Given the description of an element on the screen output the (x, y) to click on. 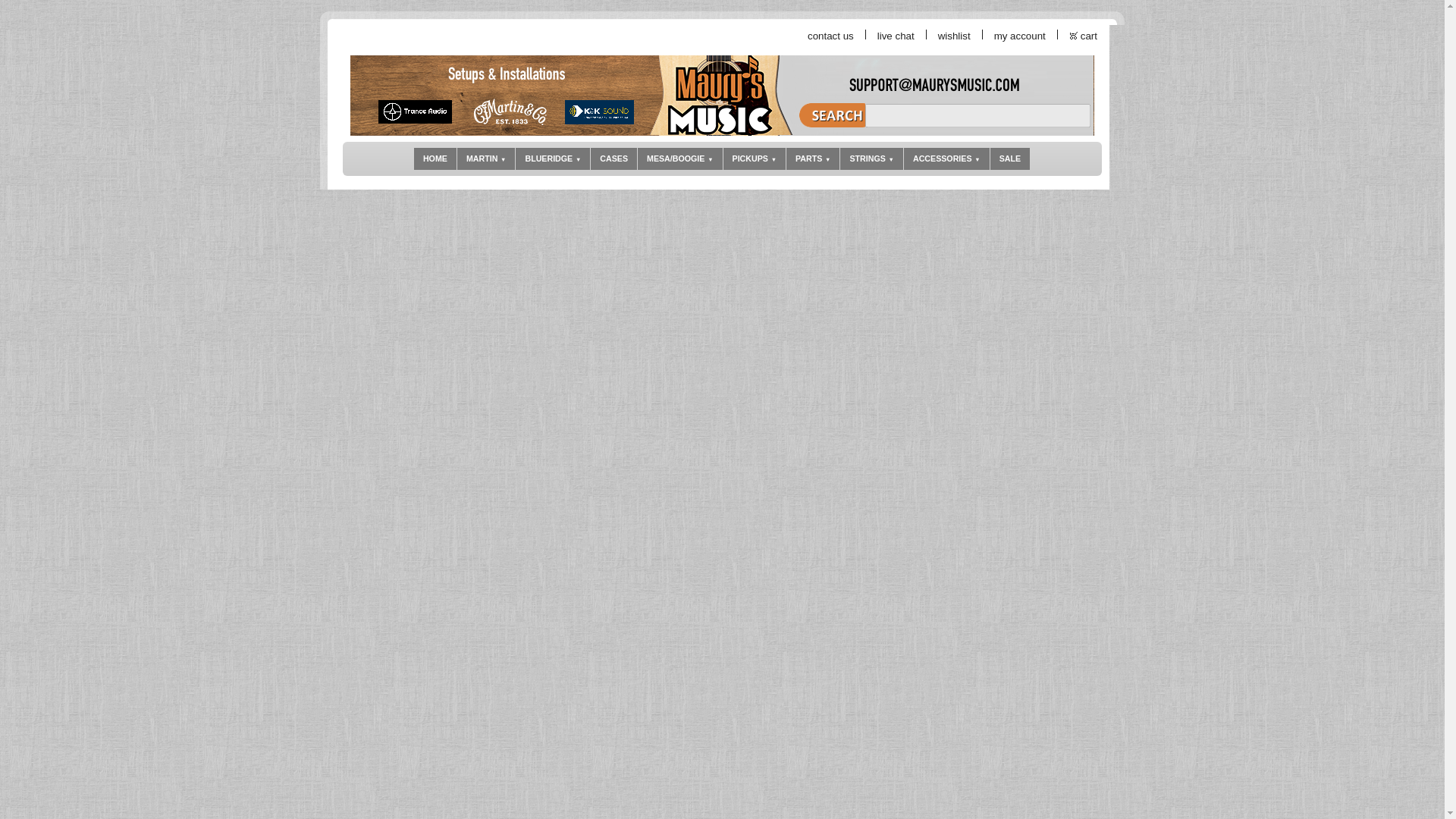
CASES (614, 158)
MARTIN (486, 158)
ACCESSORIES (947, 158)
PICKUPS (754, 158)
cart (1089, 36)
live chat (896, 36)
contact us (832, 36)
STRINGS (871, 158)
SALE (1009, 158)
HOME (435, 158)
